Given the description of an element on the screen output the (x, y) to click on. 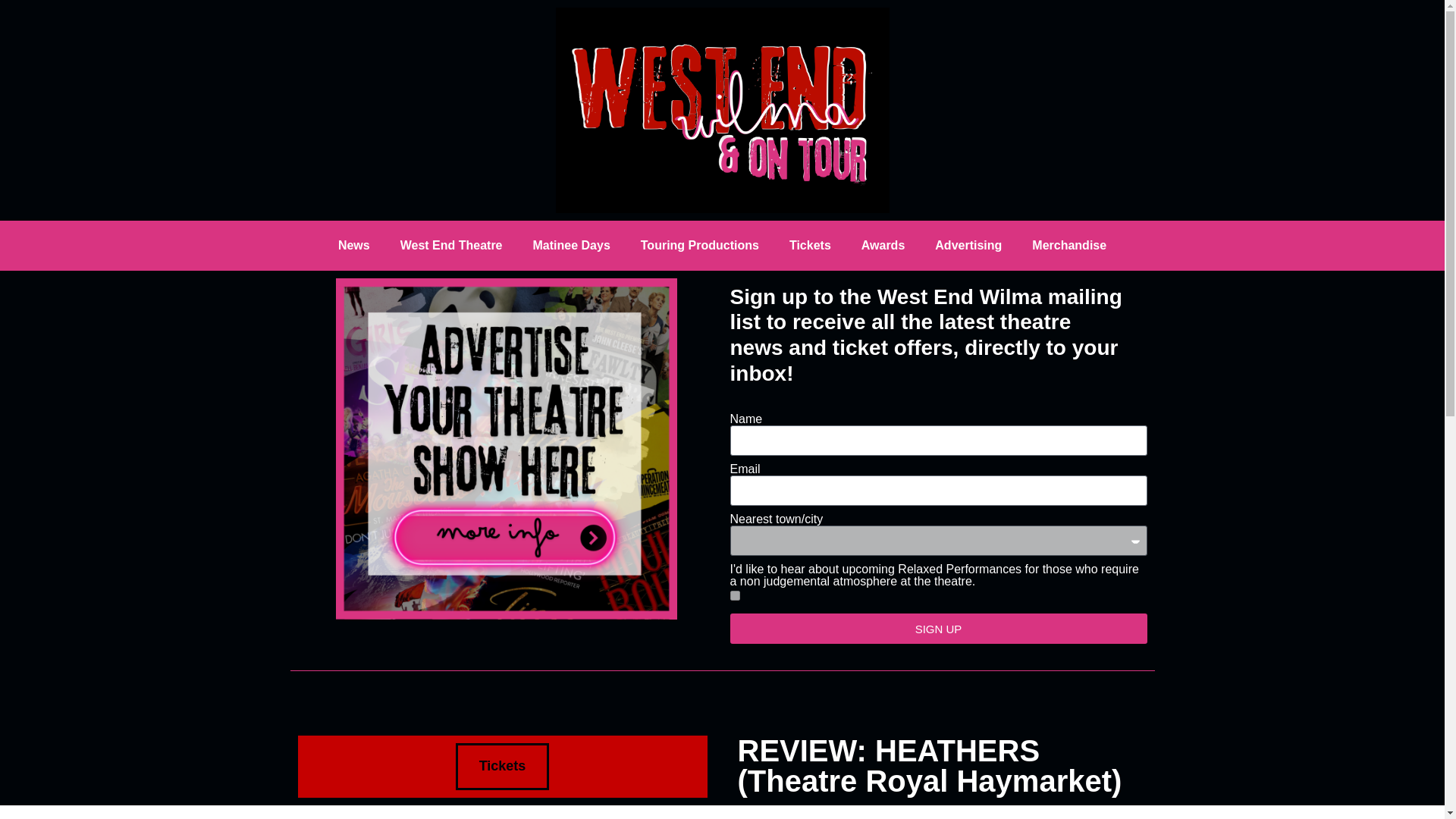
Touring Productions (700, 245)
Tickets (809, 245)
West End Theatre (451, 245)
Merchandise (1068, 245)
News (354, 245)
Tickets (502, 766)
SIGN UP (938, 628)
Awards (882, 245)
Matinee Days (572, 245)
Advertising (968, 245)
